Given the description of an element on the screen output the (x, y) to click on. 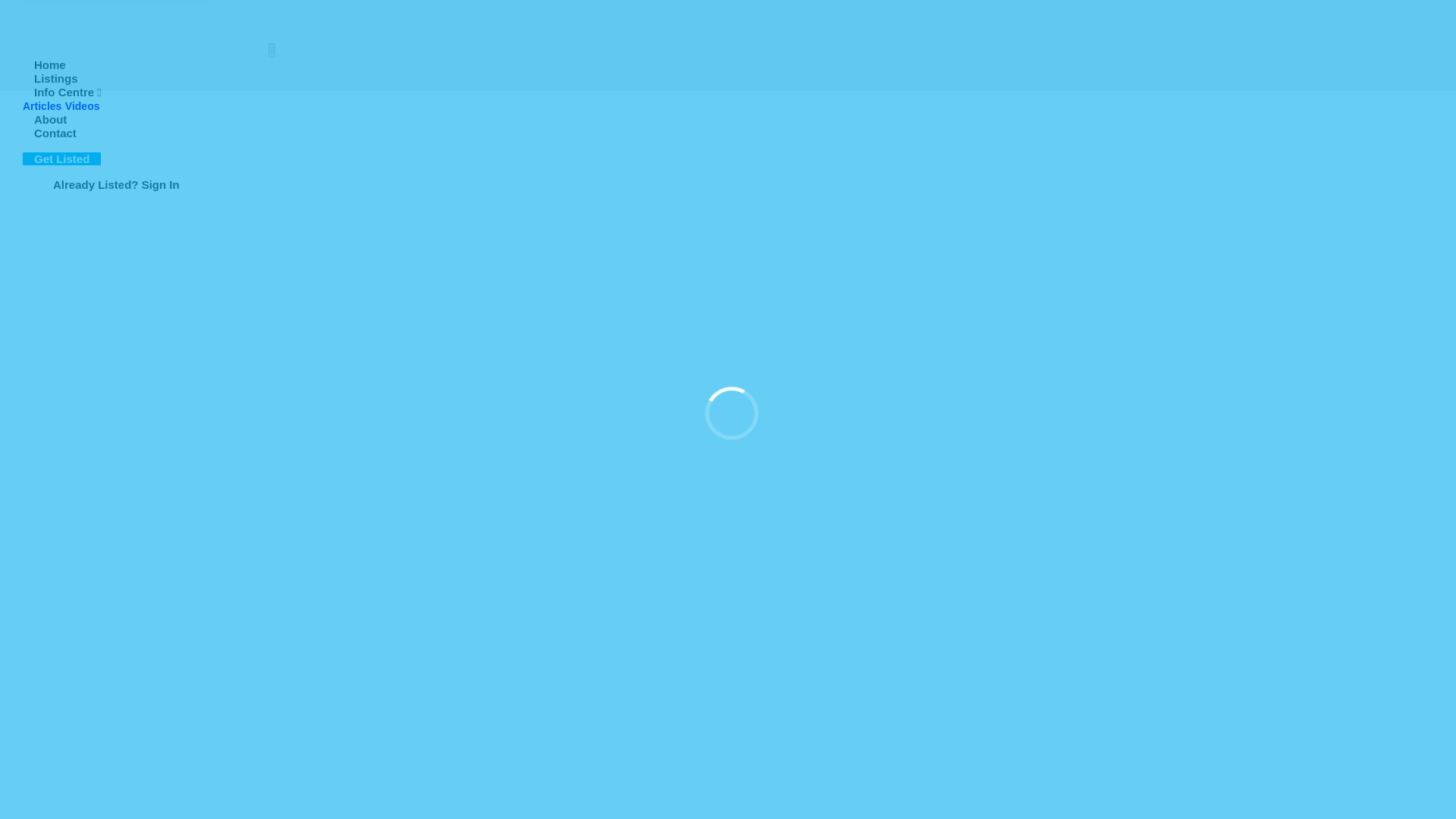
Home (50, 64)
Listings (55, 78)
